Given the description of an element on the screen output the (x, y) to click on. 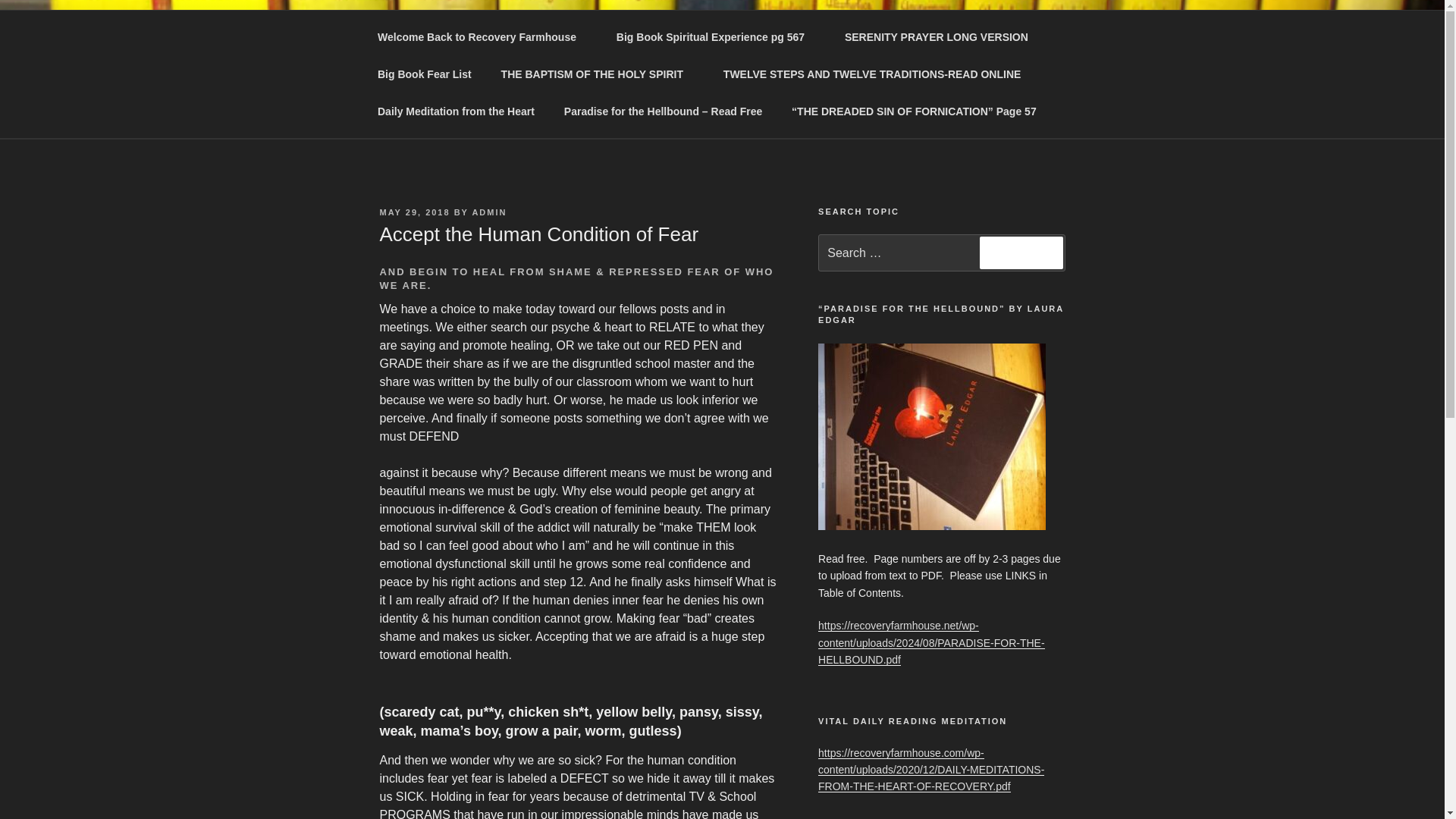
Big Book Fear List (424, 74)
SERENITY PRAYER LONG VERSION (936, 36)
MAY 29, 2018 (413, 212)
Welcome Back to Recovery Farmhouse (481, 36)
RECOVERYFARMHOUSE.NET (684, 60)
Daily Meditation from the Heart (455, 110)
ADMIN (488, 212)
TWELVE STEPS AND TWELVE TRADITIONS-READ ONLINE (877, 74)
THE BAPTISM OF THE HOLY SPIRIT (596, 74)
Big Book Spiritual Experience pg 567 (715, 36)
